Given the description of an element on the screen output the (x, y) to click on. 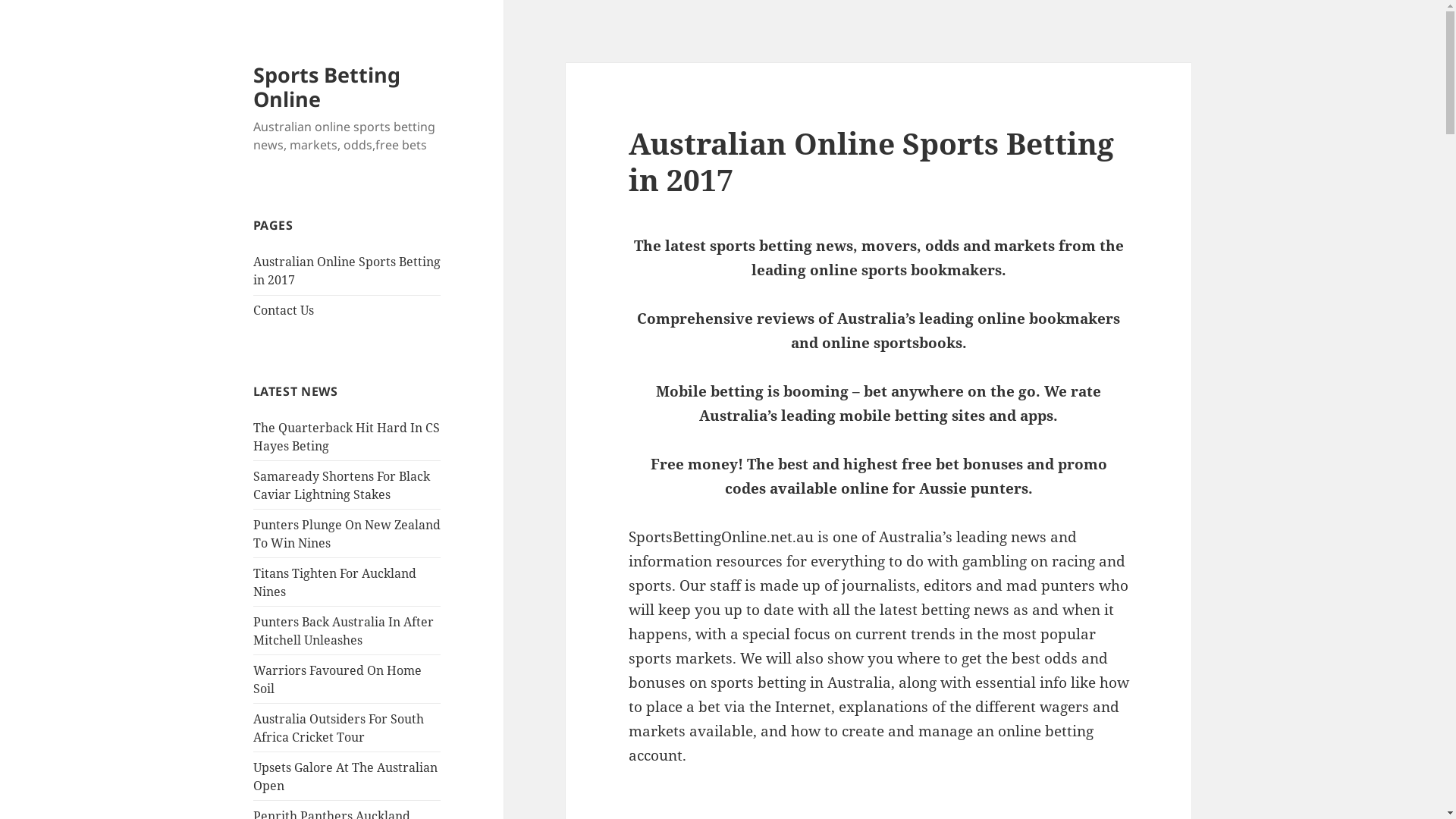
The Quarterback Hit Hard In CS Hayes Beting Element type: text (346, 436)
Titans Tighten For Auckland Nines Element type: text (334, 581)
Upsets Galore At The Australian Open Element type: text (345, 776)
Punters Back Australia In After Mitchell Unleashes Element type: text (343, 630)
Punters Plunge On New Zealand To Win Nines Element type: text (346, 533)
Sports Betting Online Element type: text (326, 86)
Warriors Favoured On Home Soil Element type: text (337, 679)
Samaready Shortens For Black Caviar Lightning Stakes Element type: text (341, 484)
Australia Outsiders For South Africa Cricket Tour Element type: text (338, 727)
Australian Online Sports Betting in 2017 Element type: text (346, 270)
Contact Us Element type: text (283, 309)
